Given the description of an element on the screen output the (x, y) to click on. 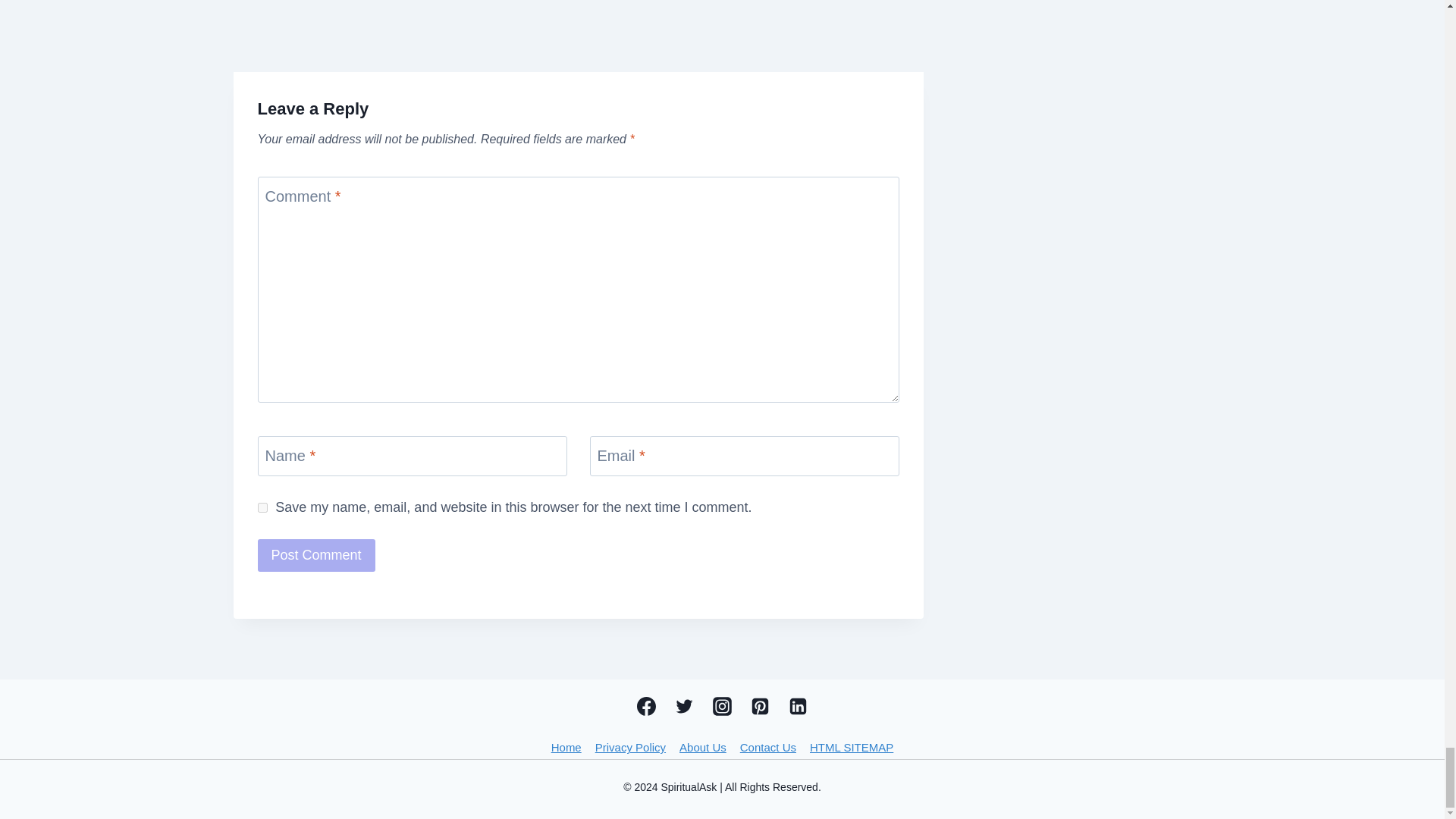
yes (262, 507)
Post Comment (316, 554)
